Given the description of an element on the screen output the (x, y) to click on. 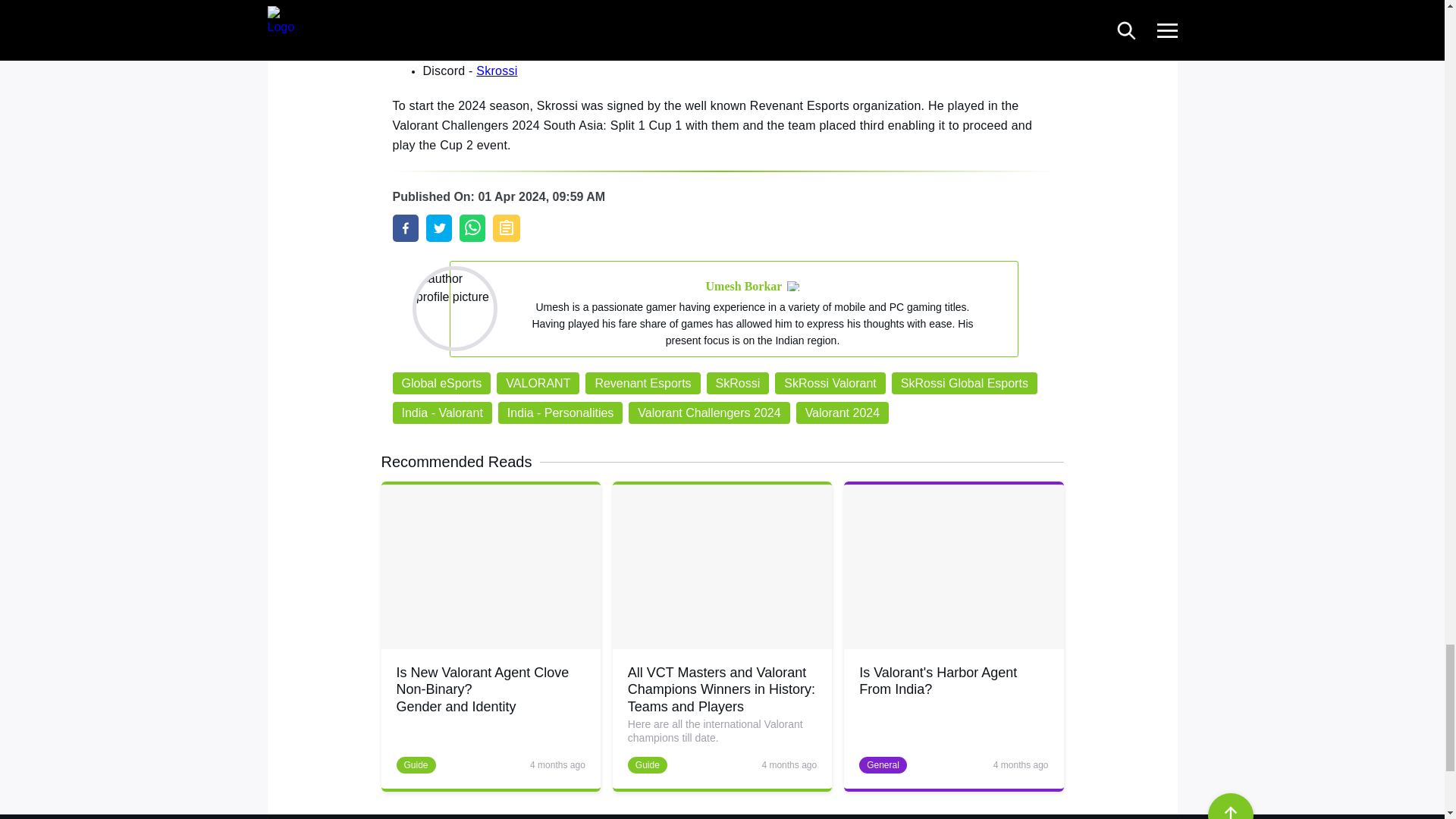
Umesh Borkar (744, 286)
Skrossi (499, 35)
Valorant 2024 (842, 413)
Revenant Esports (642, 382)
SkRossi Global Esports (963, 382)
India - Valorant (442, 413)
VALORANT (537, 382)
Global eSports (442, 382)
Skrossi (462, 3)
Skrossi (496, 70)
SkRossi (738, 382)
Valorant Challengers 2024 (708, 413)
India - Personalities (560, 413)
Who Is Skrossi? (406, 227)
SkRossi Valorant (829, 382)
